Given the description of an element on the screen output the (x, y) to click on. 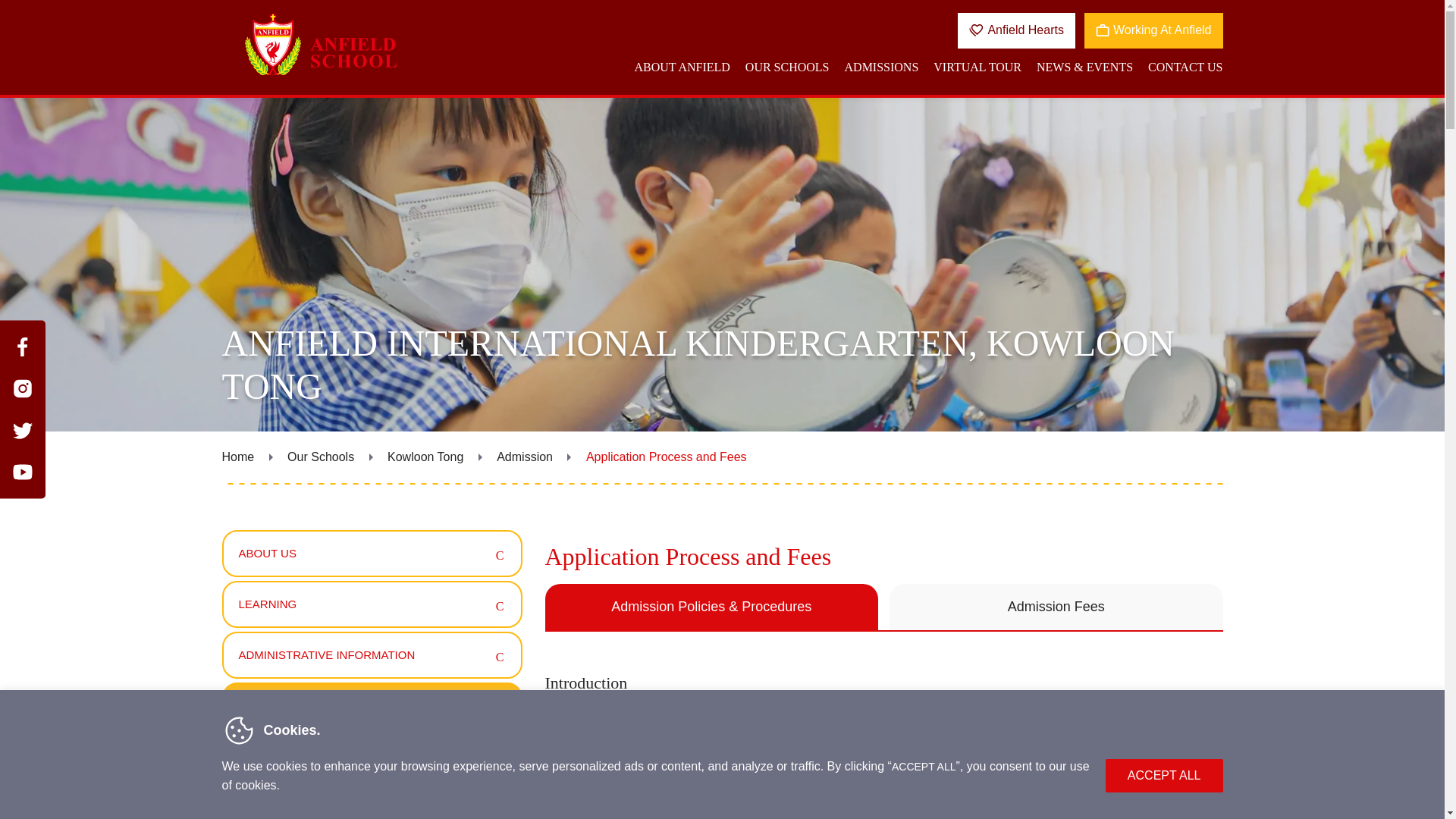
ADMISSIONS (881, 74)
ABOUT ANFIELD (681, 74)
Working At Anfield (1153, 30)
OUR SCHOOLS (787, 74)
ACCEPT ALL (1164, 775)
Anfield Hearts (1016, 30)
